Given the description of an element on the screen output the (x, y) to click on. 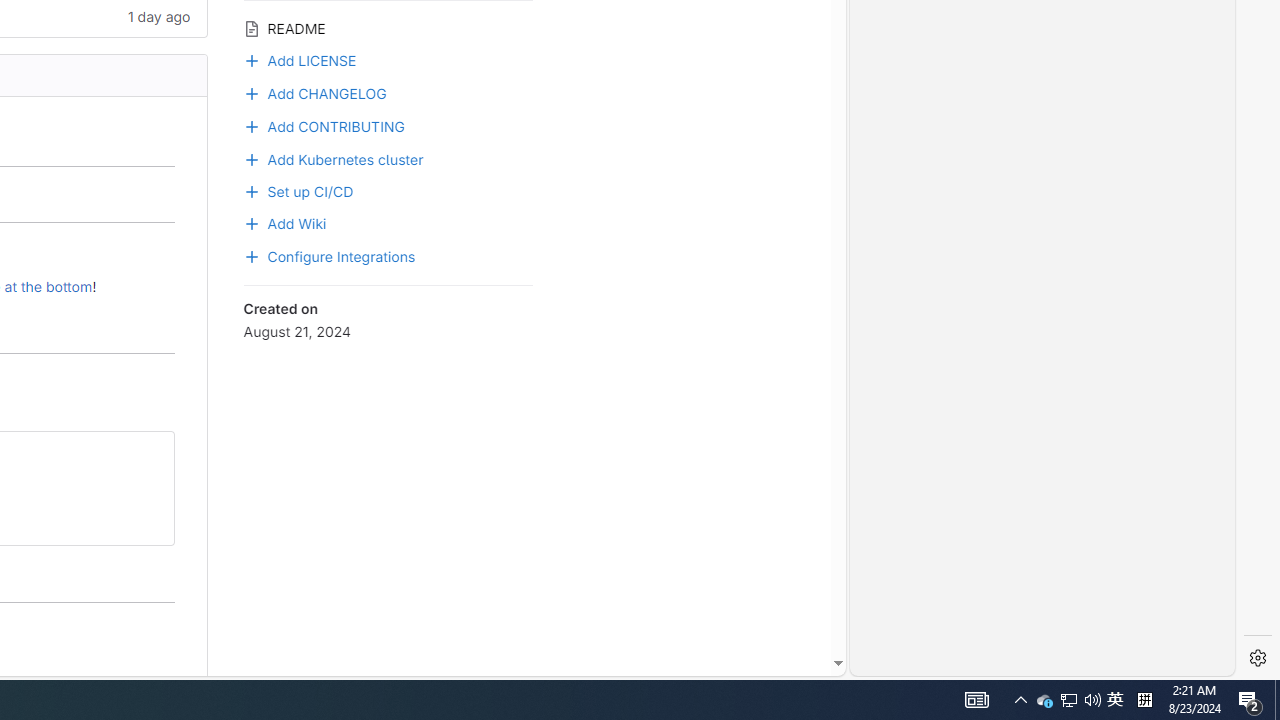
Class: btn btn-default btn-md gl-button btn-icon has-tooltip (150, 453)
README (387, 26)
Add LICENSE (300, 58)
Configure Integrations (329, 255)
Configure Integrations (387, 255)
Add CHANGELOG (314, 91)
Set up CI/CD (387, 189)
Add CONTRIBUTING (387, 124)
Add LICENSE (387, 59)
Class: s16 gl-text-blue-500! gl-mr-3 (251, 126)
Add Wiki (387, 222)
Class: s16 gl-mr-3 (251, 223)
Class: s16 gl-blue-500! gl-mr-3 (251, 256)
Set up CI/CD (298, 189)
